Given the description of an element on the screen output the (x, y) to click on. 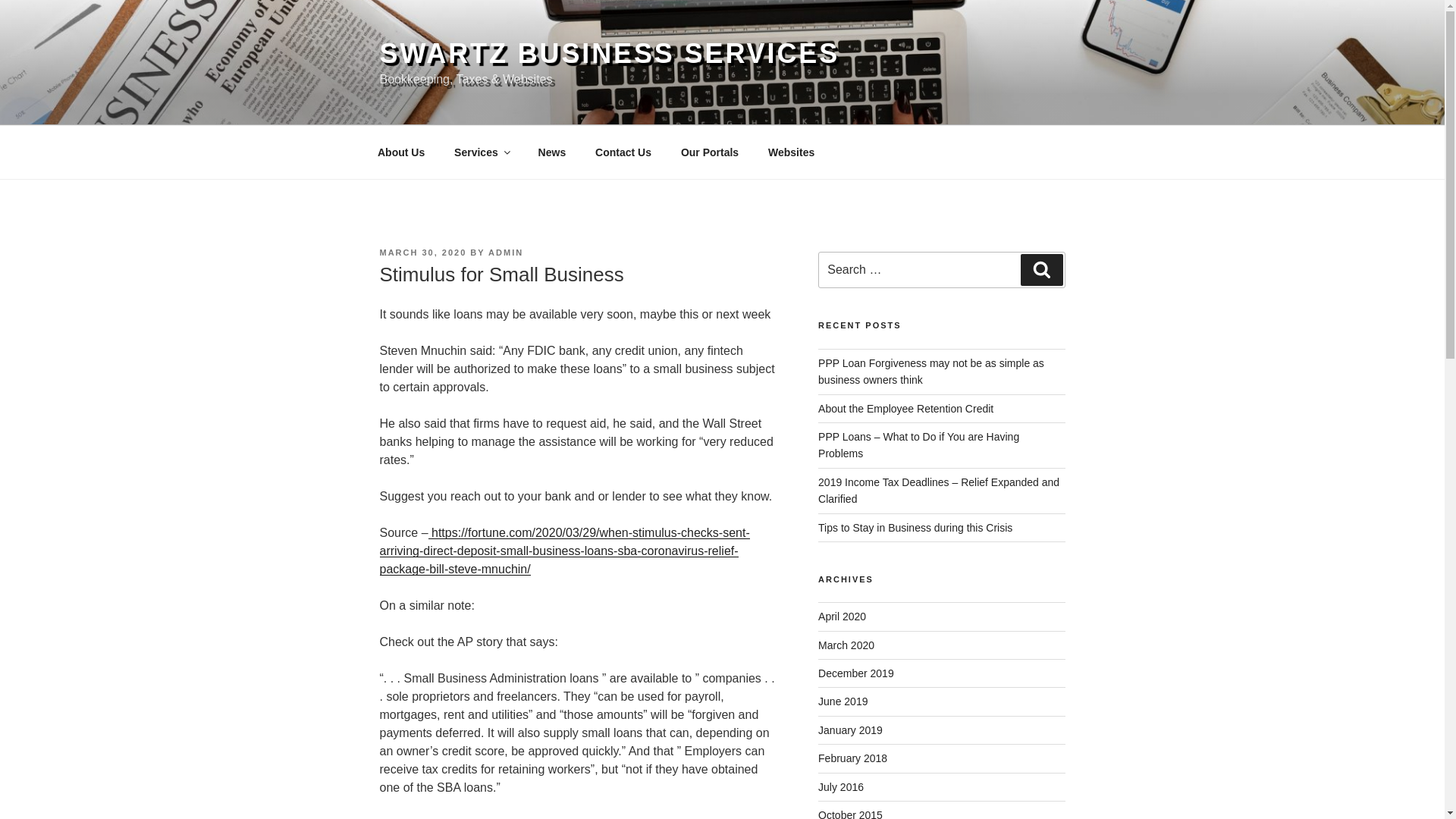
Our Portals (708, 151)
Websites (791, 151)
April 2020 (842, 616)
June 2019 (842, 701)
Services (481, 151)
December 2019 (855, 673)
January 2019 (850, 729)
News (551, 151)
About the Employee Retention Credit (905, 408)
SWARTZ BUSINESS SERVICES (609, 52)
Contact Us (623, 151)
March 2020 (846, 645)
MARCH 30, 2020 (421, 252)
Search (1041, 269)
